Given the description of an element on the screen output the (x, y) to click on. 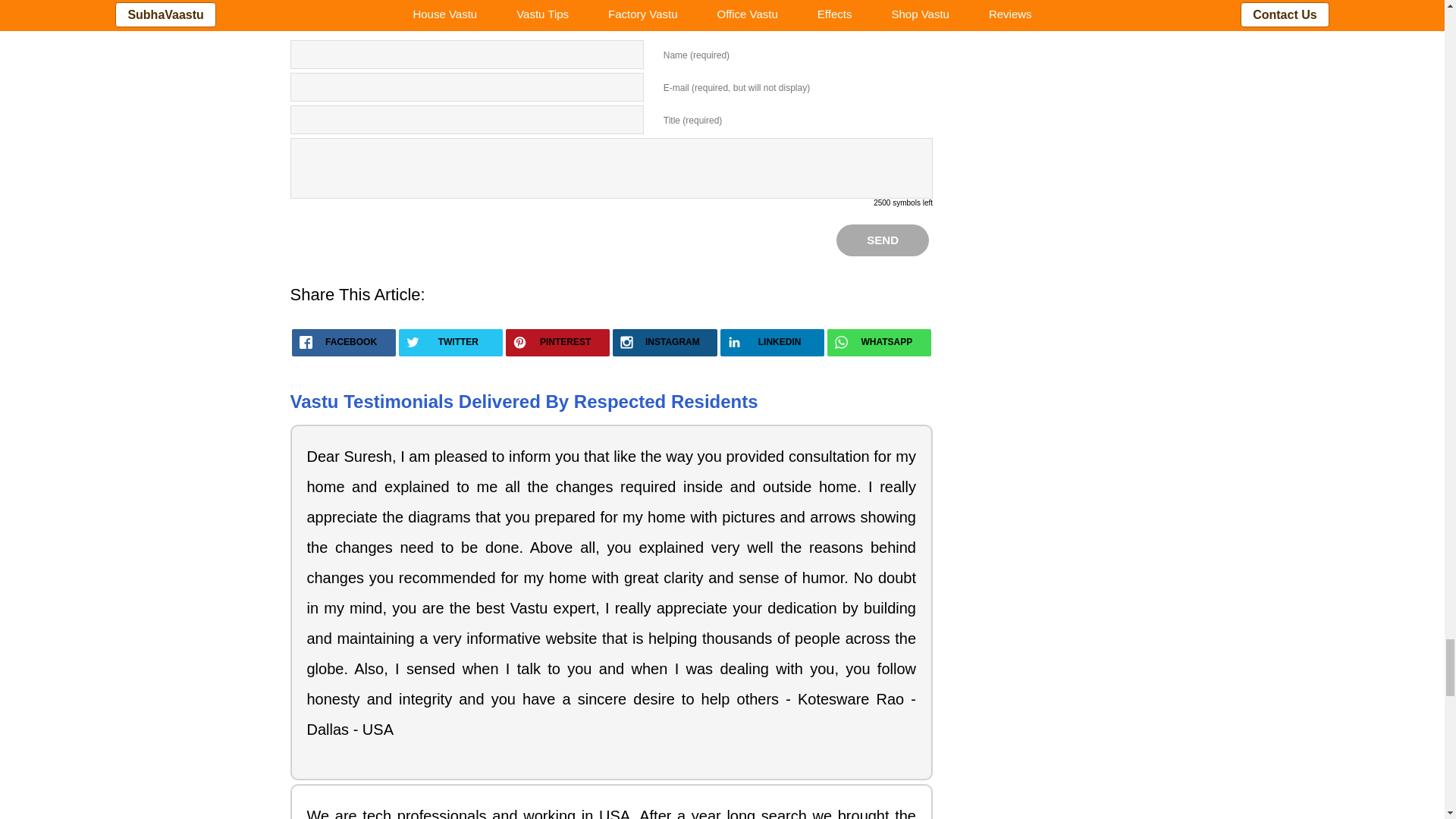
Refresh comments list (379, 4)
